Given the description of an element on the screen output the (x, y) to click on. 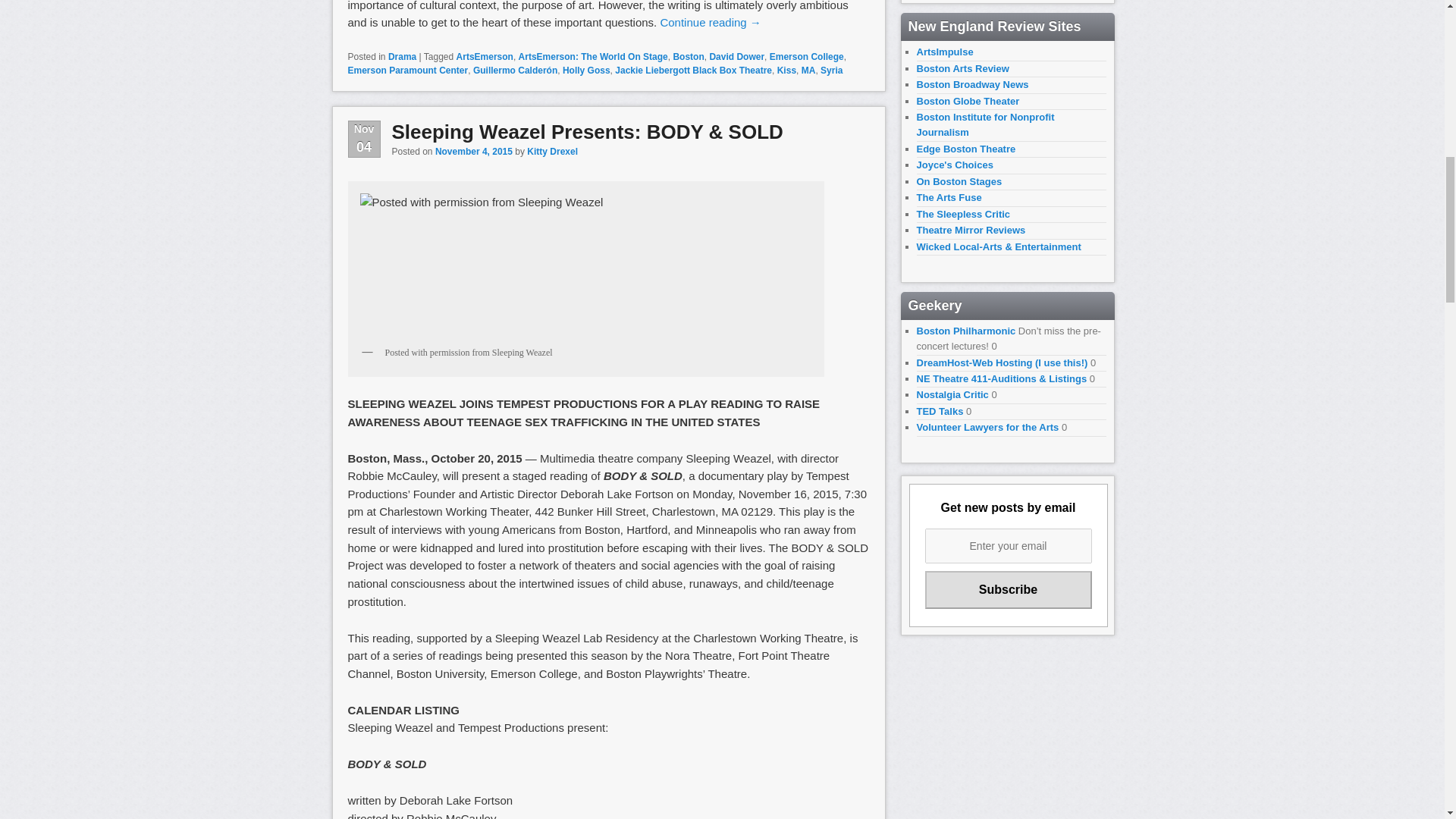
Subscribe (1008, 589)
Boston (687, 56)
Holly Goss (586, 70)
10:43 am (473, 151)
Kitty Drexel (552, 151)
MA (808, 70)
Emerson Paramount Center (407, 70)
Jackie Liebergott Black Box Theatre (692, 70)
ArtsEmerson: The World On Stage (593, 56)
David Dower (736, 56)
